Given the description of an element on the screen output the (x, y) to click on. 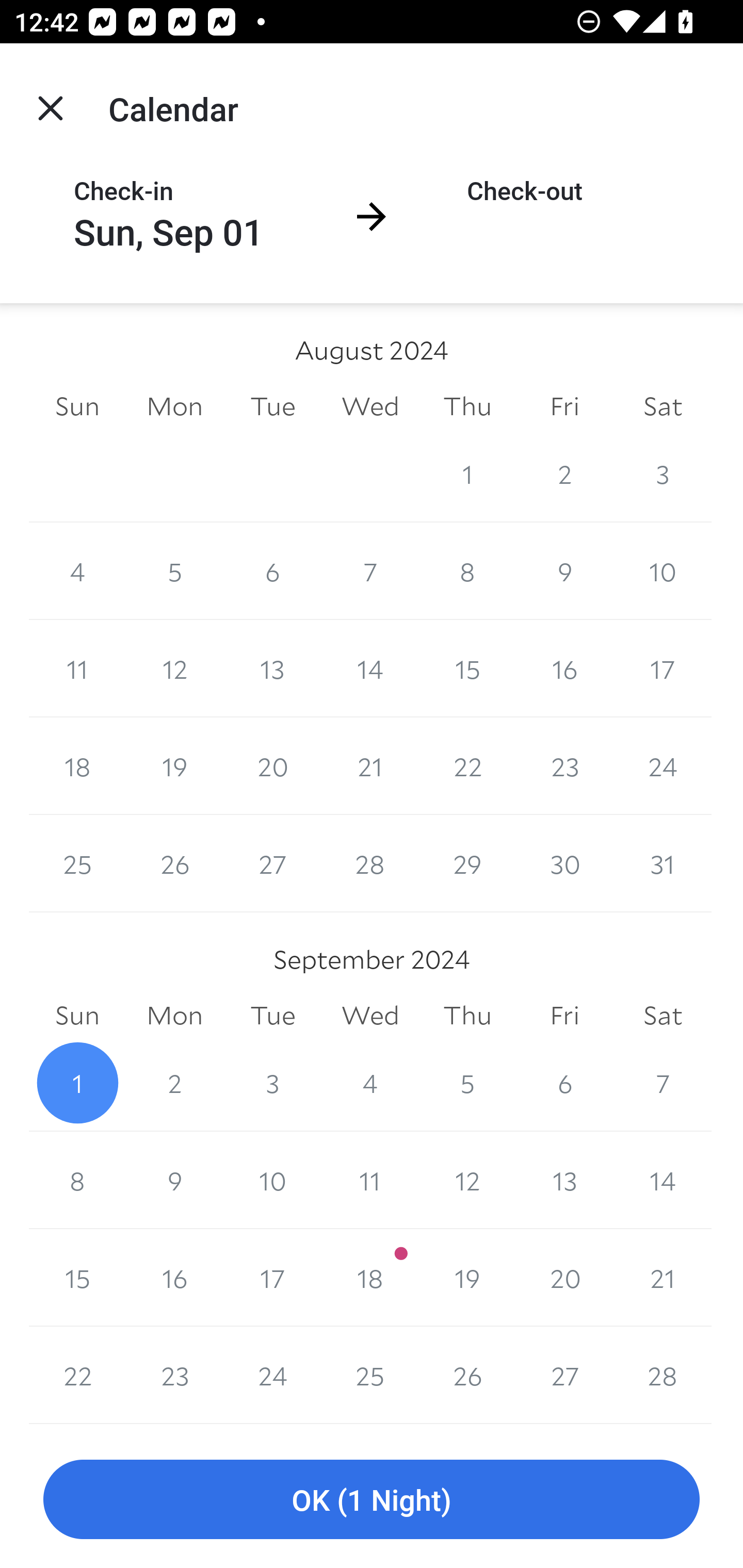
Sun (77, 405)
Mon (174, 405)
Tue (272, 405)
Wed (370, 405)
Thu (467, 405)
Fri (564, 405)
Sat (662, 405)
1 1 August 2024 (467, 473)
2 2 August 2024 (564, 473)
3 3 August 2024 (662, 473)
4 4 August 2024 (77, 570)
5 5 August 2024 (174, 570)
6 6 August 2024 (272, 570)
7 7 August 2024 (370, 570)
8 8 August 2024 (467, 570)
9 9 August 2024 (564, 570)
10 10 August 2024 (662, 570)
11 11 August 2024 (77, 668)
12 12 August 2024 (174, 668)
13 13 August 2024 (272, 668)
14 14 August 2024 (370, 668)
15 15 August 2024 (467, 668)
16 16 August 2024 (564, 668)
17 17 August 2024 (662, 668)
18 18 August 2024 (77, 766)
19 19 August 2024 (174, 766)
20 20 August 2024 (272, 766)
21 21 August 2024 (370, 766)
22 22 August 2024 (467, 766)
23 23 August 2024 (564, 766)
24 24 August 2024 (662, 766)
25 25 August 2024 (77, 863)
26 26 August 2024 (174, 863)
27 27 August 2024 (272, 863)
28 28 August 2024 (370, 863)
29 29 August 2024 (467, 863)
30 30 August 2024 (564, 863)
31 31 August 2024 (662, 863)
Sun (77, 1015)
Mon (174, 1015)
Tue (272, 1015)
Wed (370, 1015)
Thu (467, 1015)
Fri (564, 1015)
Sat (662, 1015)
1 1 September 2024 (77, 1083)
2 2 September 2024 (174, 1083)
3 3 September 2024 (272, 1083)
4 4 September 2024 (370, 1083)
5 5 September 2024 (467, 1083)
6 6 September 2024 (564, 1083)
7 7 September 2024 (662, 1083)
8 8 September 2024 (77, 1180)
9 9 September 2024 (174, 1180)
10 10 September 2024 (272, 1180)
11 11 September 2024 (370, 1180)
12 12 September 2024 (467, 1180)
13 13 September 2024 (564, 1180)
14 14 September 2024 (662, 1180)
15 15 September 2024 (77, 1277)
16 16 September 2024 (174, 1277)
17 17 September 2024 (272, 1277)
18 18 September 2024 (370, 1277)
19 19 September 2024 (467, 1277)
20 20 September 2024 (564, 1277)
21 21 September 2024 (662, 1277)
22 22 September 2024 (77, 1374)
23 23 September 2024 (174, 1374)
24 24 September 2024 (272, 1374)
25 25 September 2024 (370, 1374)
26 26 September 2024 (467, 1374)
27 27 September 2024 (564, 1374)
28 28 September 2024 (662, 1374)
OK (1 Night) (371, 1499)
